Given the description of an element on the screen output the (x, y) to click on. 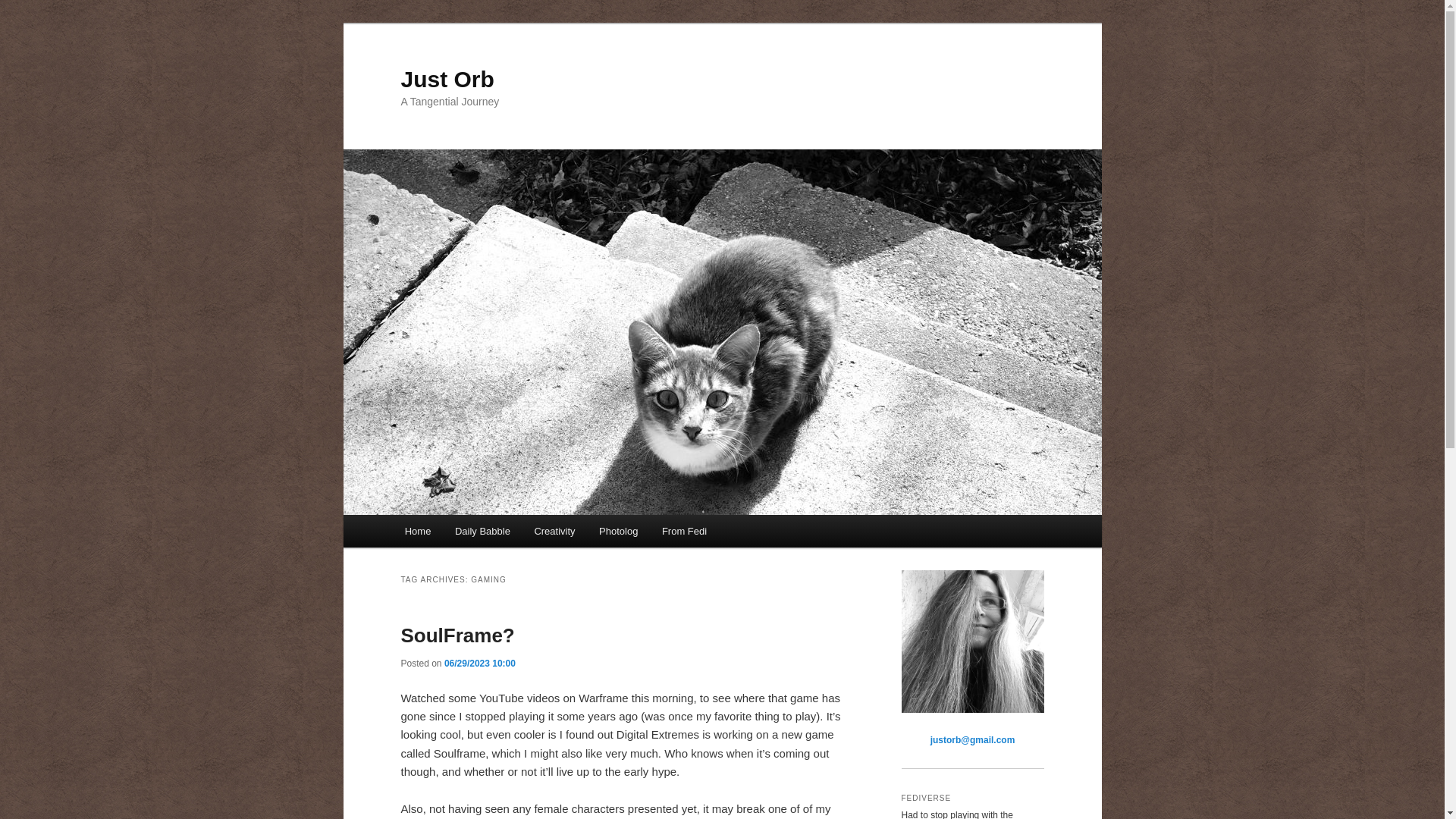
Home (417, 531)
10:00 (479, 663)
SoulFrame? (456, 635)
Just Orb (446, 78)
Daily Babble (482, 531)
From Fedi (684, 531)
Photolog (617, 531)
Creativity (555, 531)
